Given the description of an element on the screen output the (x, y) to click on. 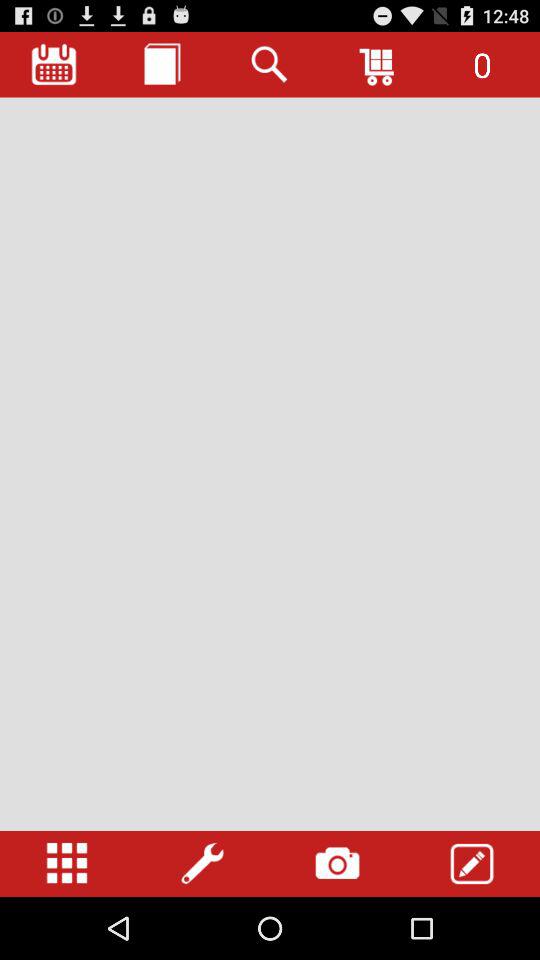
add diary (161, 64)
